Given the description of an element on the screen output the (x, y) to click on. 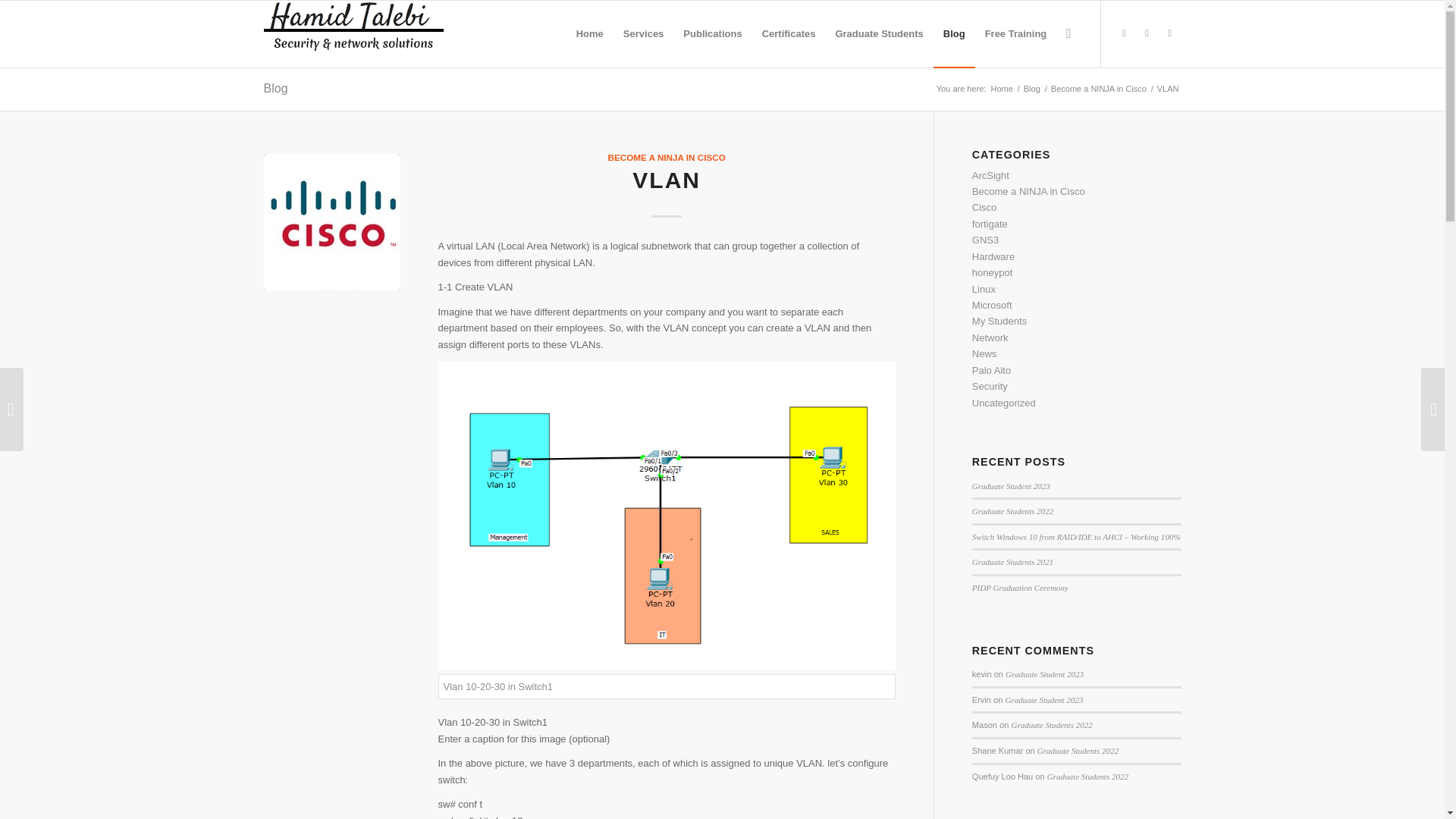
Blog (1032, 89)
Blog (275, 88)
BECOME A NINJA IN CISCO (666, 157)
Graduate Students (879, 33)
Free Training (1016, 33)
Permanent Link: Blog (275, 88)
Blog (1032, 89)
Services (643, 33)
Hamidreza Talebi (1001, 89)
Become a NINJA in Cisco (1098, 89)
